Given the description of an element on the screen output the (x, y) to click on. 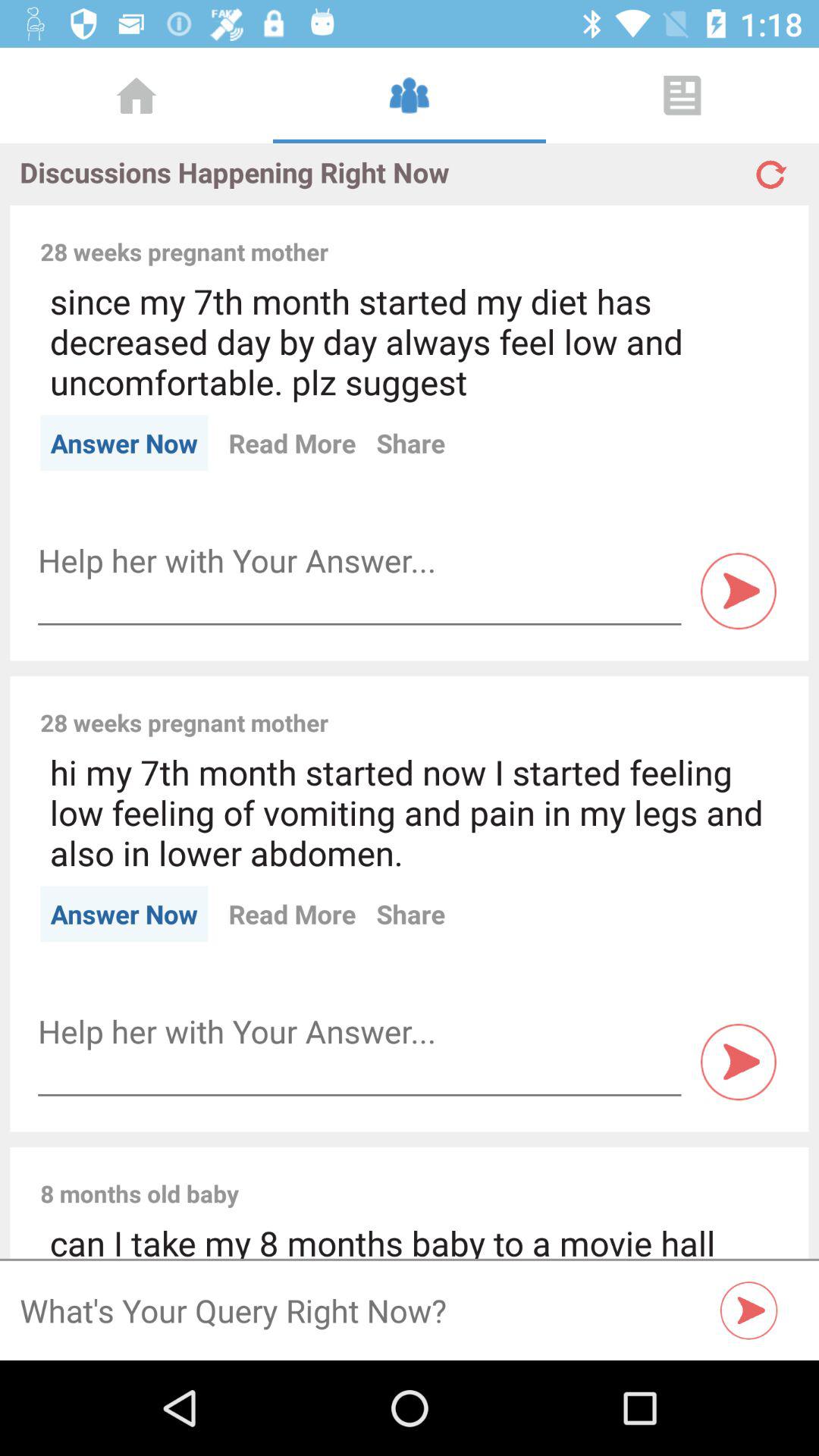
go to next (749, 1310)
